Given the description of an element on the screen output the (x, y) to click on. 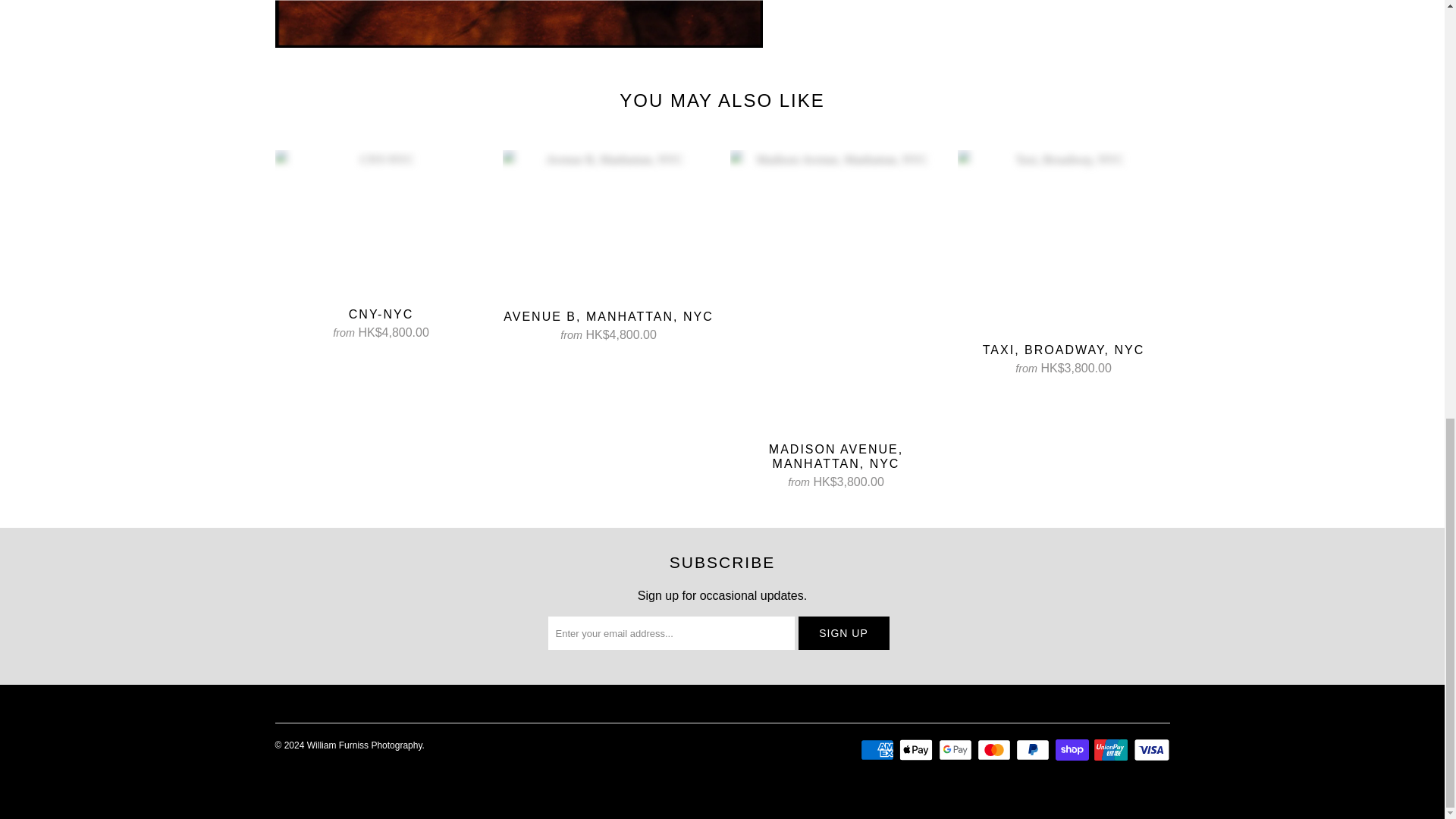
Mastercard (994, 749)
American Express (878, 749)
Visa (1150, 749)
Shop Pay (1073, 749)
Apple Pay (917, 749)
Union Pay (1112, 749)
Google Pay (957, 749)
Sign Up (842, 633)
PayPal (1034, 749)
